Given the description of an element on the screen output the (x, y) to click on. 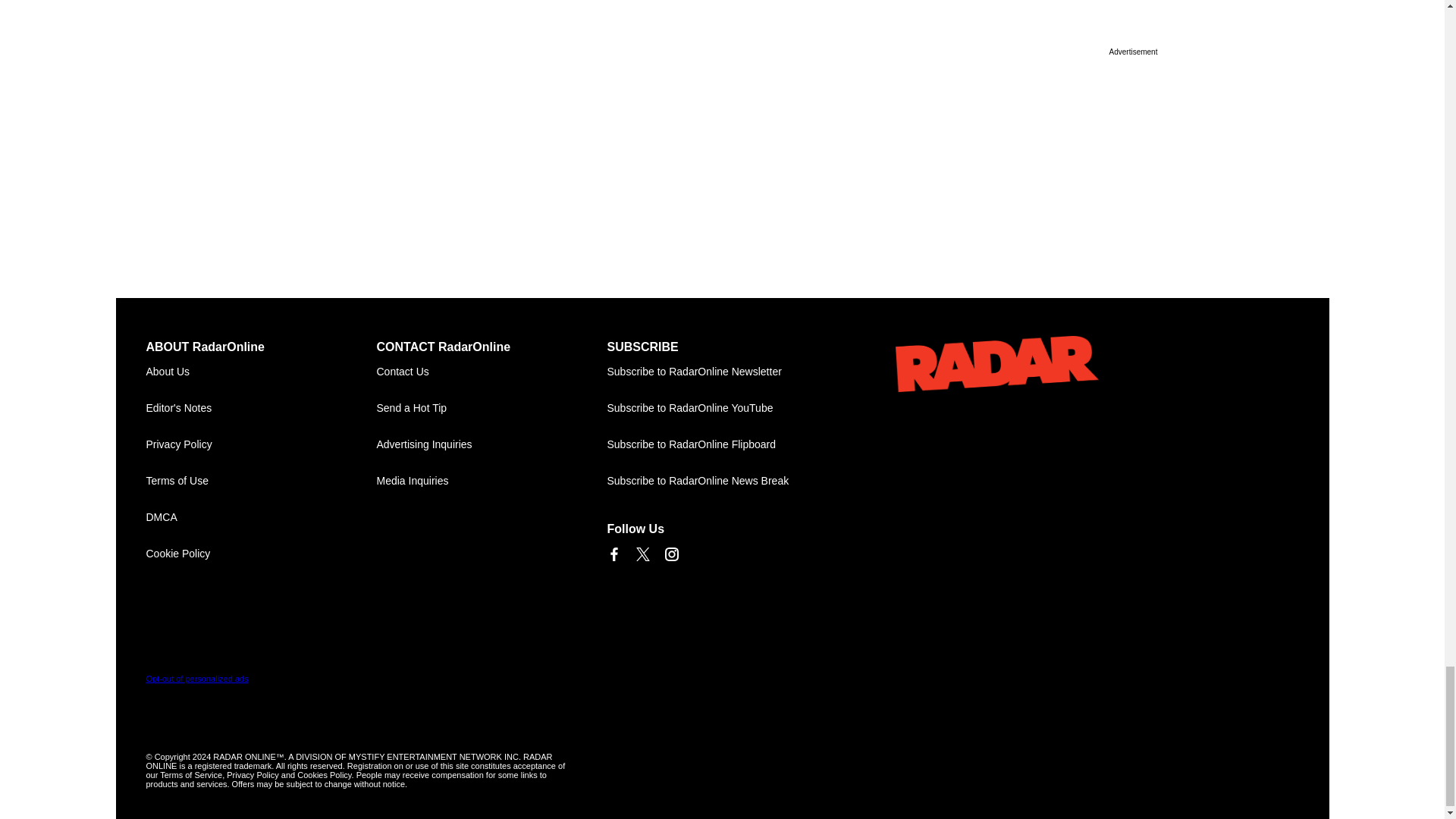
Contact Us (491, 371)
Media Inquiries (491, 481)
Subscribe (722, 371)
Editor's Notes (260, 408)
Cookie Policy (260, 554)
About Us (260, 371)
Link to Instagram (670, 554)
Advertising Inquiries (491, 444)
Link to Facebook (613, 554)
DMCA (260, 517)
